Given the description of an element on the screen output the (x, y) to click on. 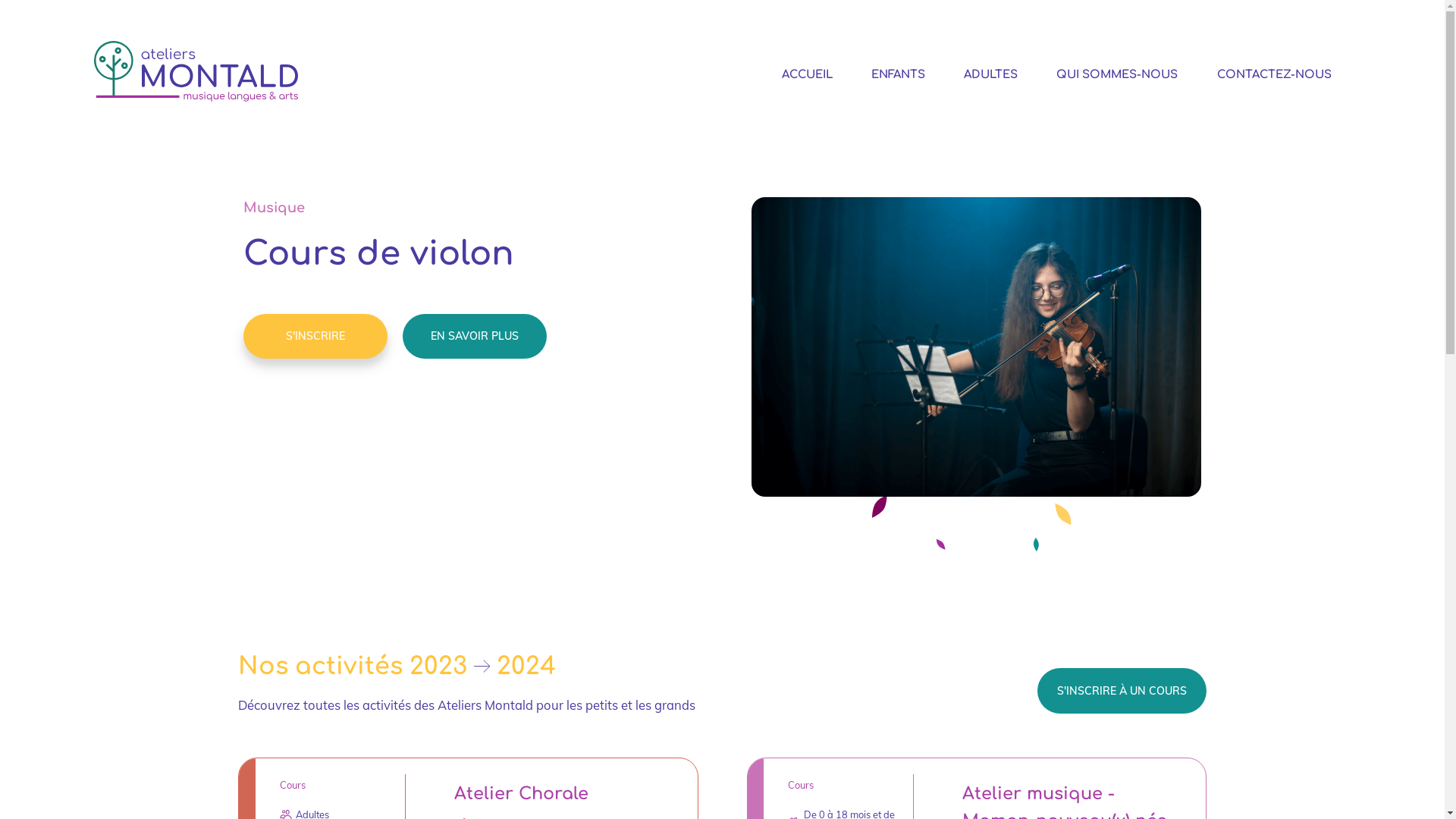
QUI SOMMES-NOUS Element type: text (1116, 74)
ENFANTS Element type: text (898, 74)
CONTACTEZ-NOUS Element type: text (1274, 74)
ACCUEIL Element type: text (806, 74)
S'INSCRIRE Element type: text (315, 335)
EN SAVOIR PLUS Element type: text (474, 335)
Atelier Chorale Element type: text (521, 793)
ADULTES Element type: text (990, 74)
